Given the description of an element on the screen output the (x, y) to click on. 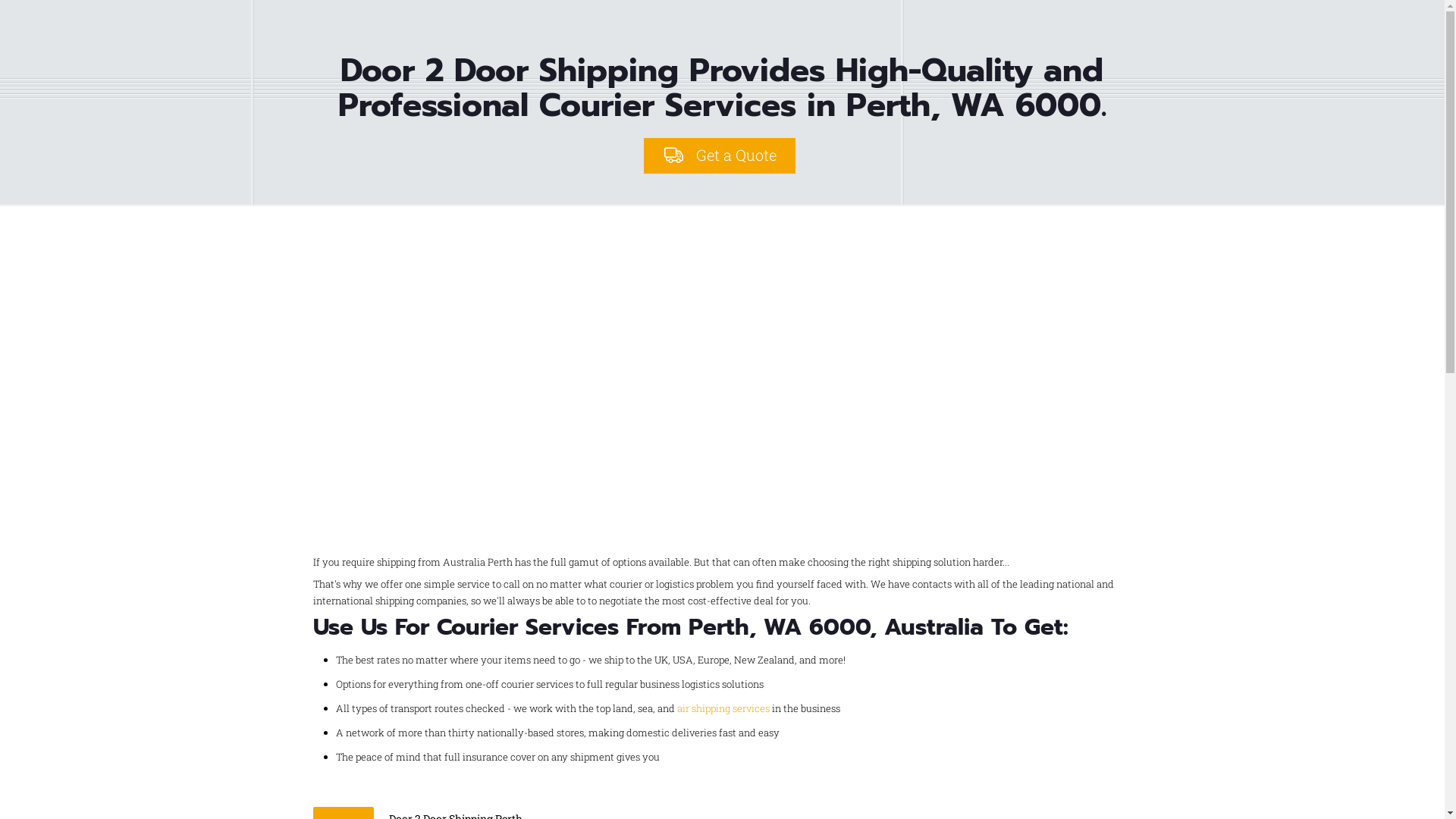
Get a Quote Element type: text (719, 155)
air shipping services Element type: text (723, 708)
